Given the description of an element on the screen output the (x, y) to click on. 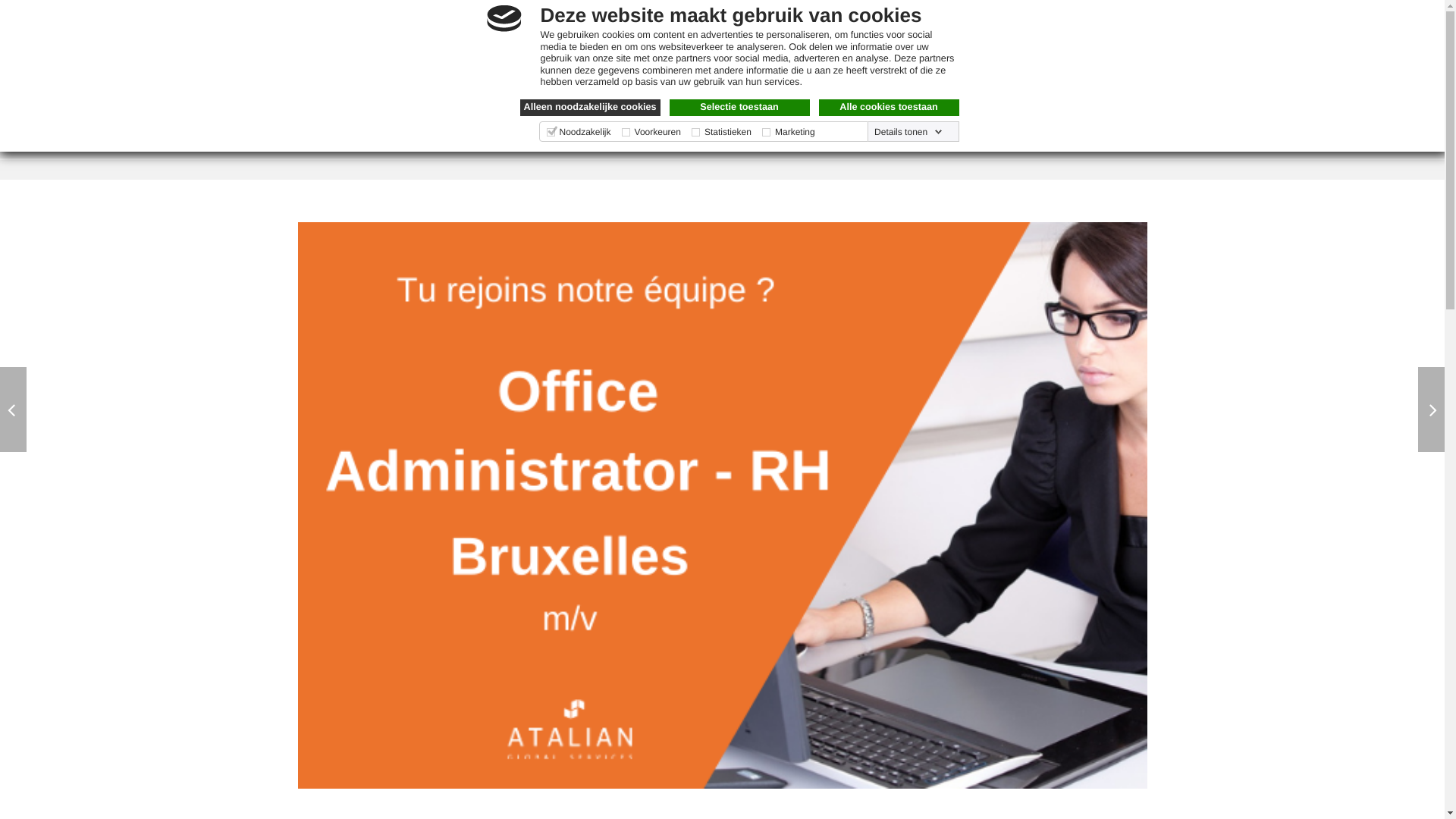
Details tonen Element type: text (908, 131)
Selectie toestaan Element type: text (738, 107)
Alle cookies toestaan Element type: text (889, 107)
Nederlands Element type: text (553, 22)
Loopbaan Element type: text (888, 56)
Alleen noodzakelijke cookies Element type: text (590, 107)
ONZE DIENSTEN Element type: text (672, 112)
CONTACTEER ONS Element type: text (1047, 112)
MY ATALIAN Element type: text (1112, 55)
Media center Element type: text (988, 56)
SELECT YOUR COUNTRY Element type: text (392, 21)
OVER ONS Element type: text (550, 112)
ONZE VESTIGINGEN Element type: text (825, 112)
MVO Element type: text (938, 112)
